Given the description of an element on the screen output the (x, y) to click on. 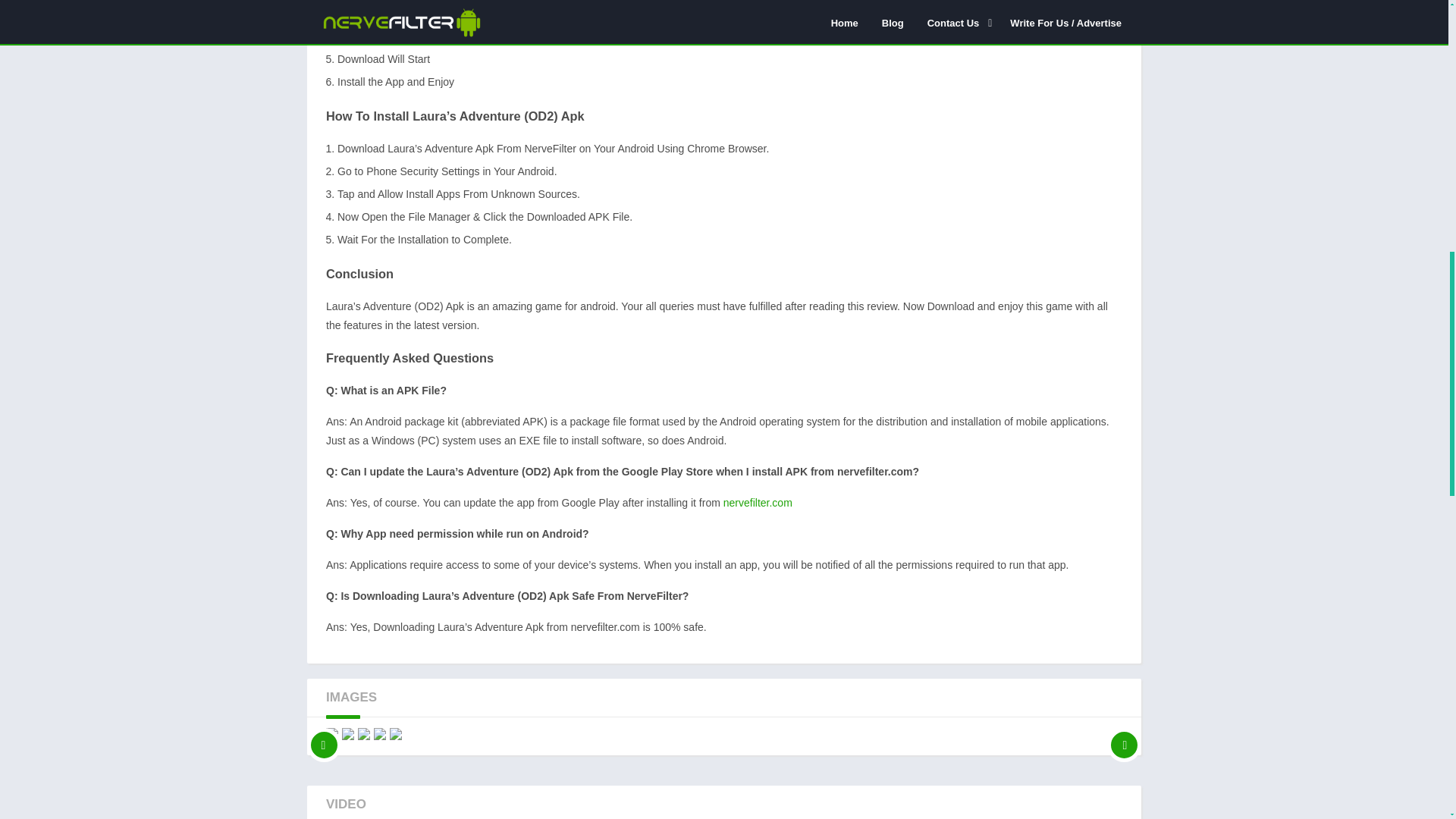
nervefilter.com (757, 502)
Next (1123, 734)
Previous (323, 734)
